Given the description of an element on the screen output the (x, y) to click on. 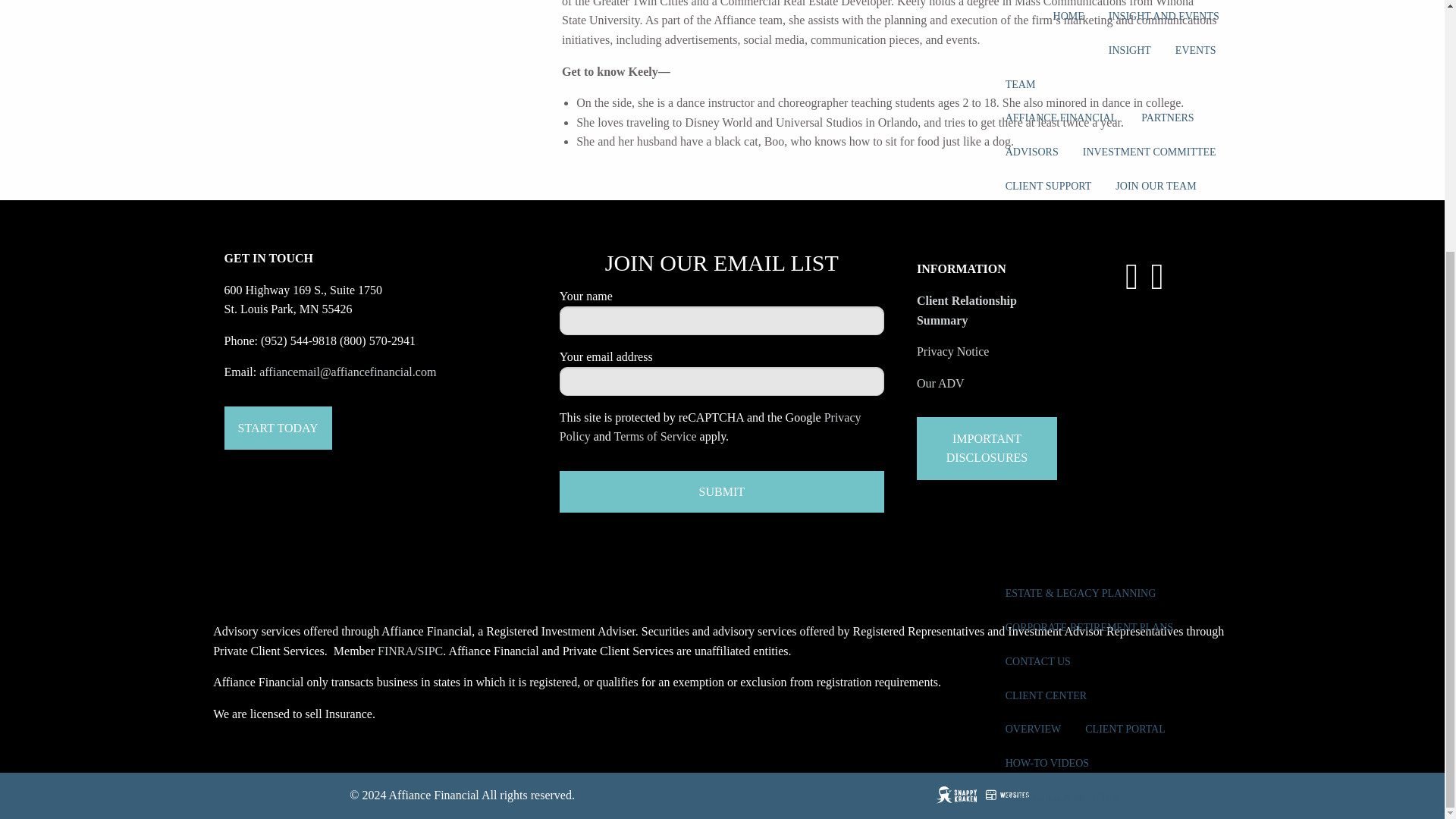
CLIENT PORTAL (1125, 374)
FINRA (395, 650)
RISK MANAGEMENT PLANNING (1084, 204)
USEFUL WEBSITES (1052, 476)
Overview (1033, 374)
HOW-TO VIDEOS (1046, 408)
CONTACT US (1156, 476)
TAX PLANNING (1044, 137)
Start Today (277, 427)
SCHEDULE A MEETING (1062, 442)
EDUCATION PLANNING (1063, 170)
INVESTMENT PLANNING (1066, 69)
CONTACT US (1037, 307)
FINANCIAL PLANNING (1161, 35)
RETIREMENT INCOME PLANNING (1089, 103)
